Given the description of an element on the screen output the (x, y) to click on. 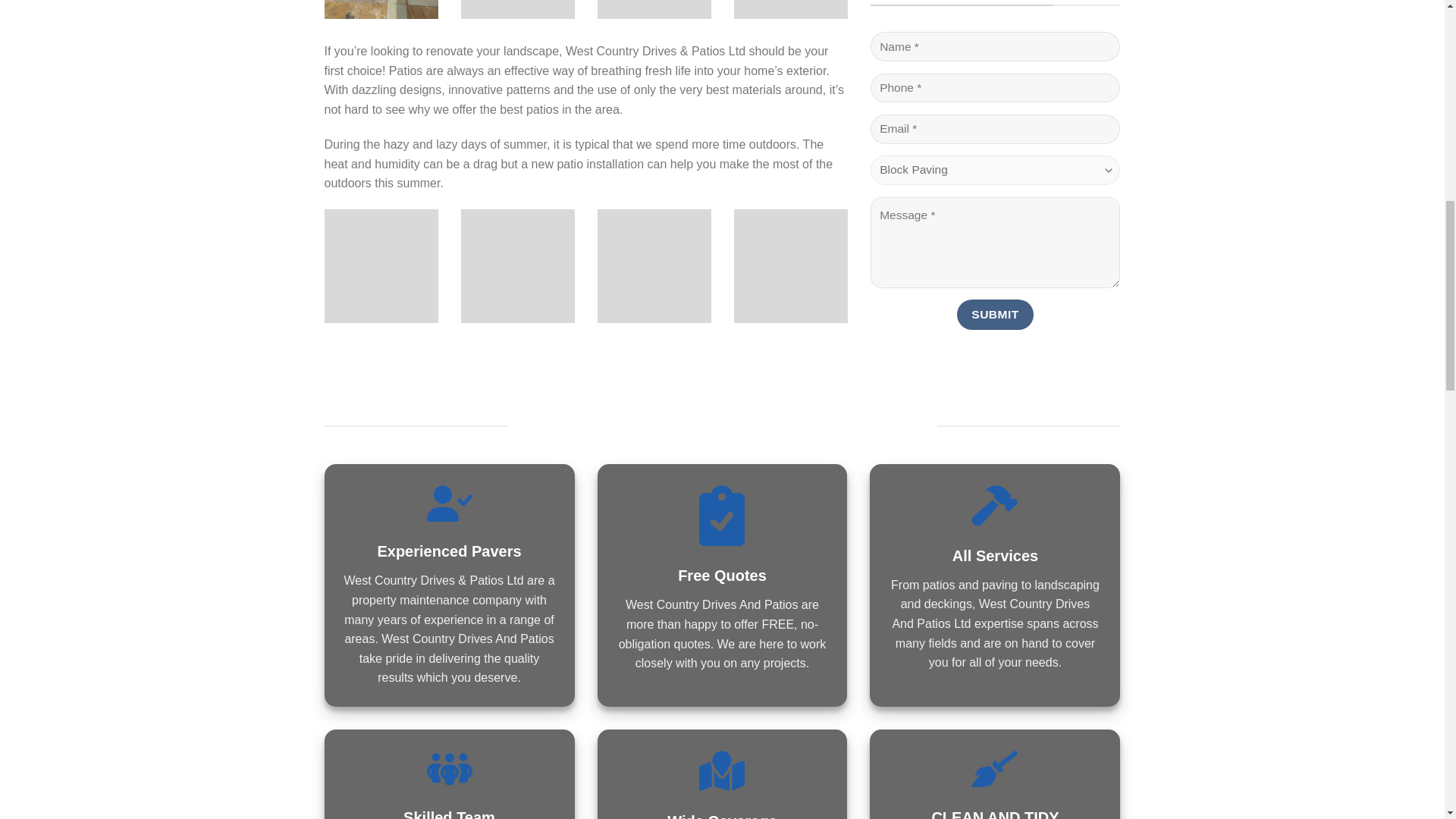
Submit (994, 74)
Submit (994, 74)
